Given the description of an element on the screen output the (x, y) to click on. 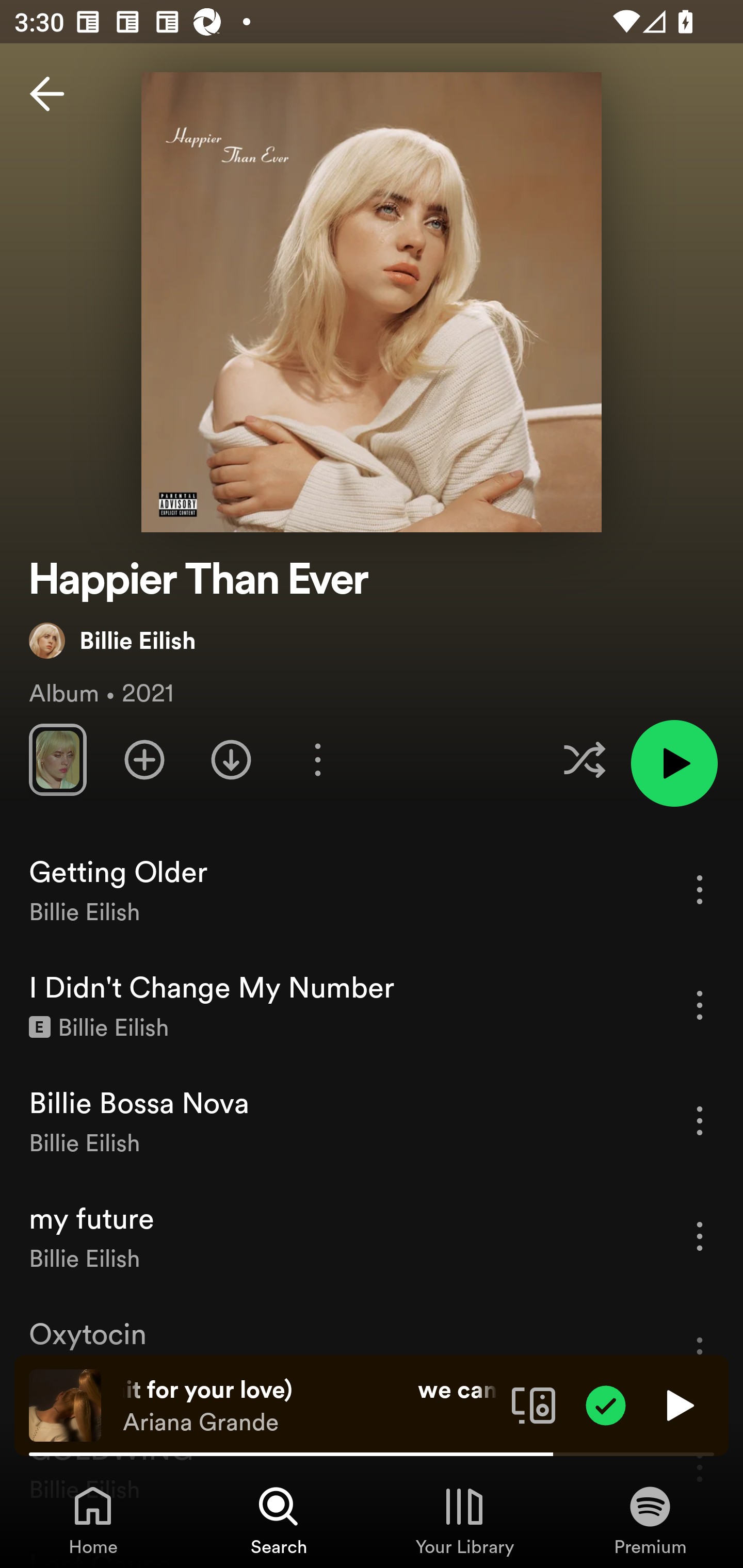
Back (46, 93)
Billie Eilish (112, 640)
Swipe through previews of tracks from this album. (57, 759)
Add playlist to Your Library (144, 759)
Download (230, 759)
More options for playlist Happier Than Ever (317, 759)
Enable shuffle for this playlist (583, 759)
Play playlist (674, 763)
More options for song Getting Older (699, 889)
More options for song I Didn't Change My Number (699, 1004)
More options for song Billie Bossa Nova (699, 1120)
More options for song my future (699, 1236)
The cover art of the currently playing track (64, 1404)
